Given the description of an element on the screen output the (x, y) to click on. 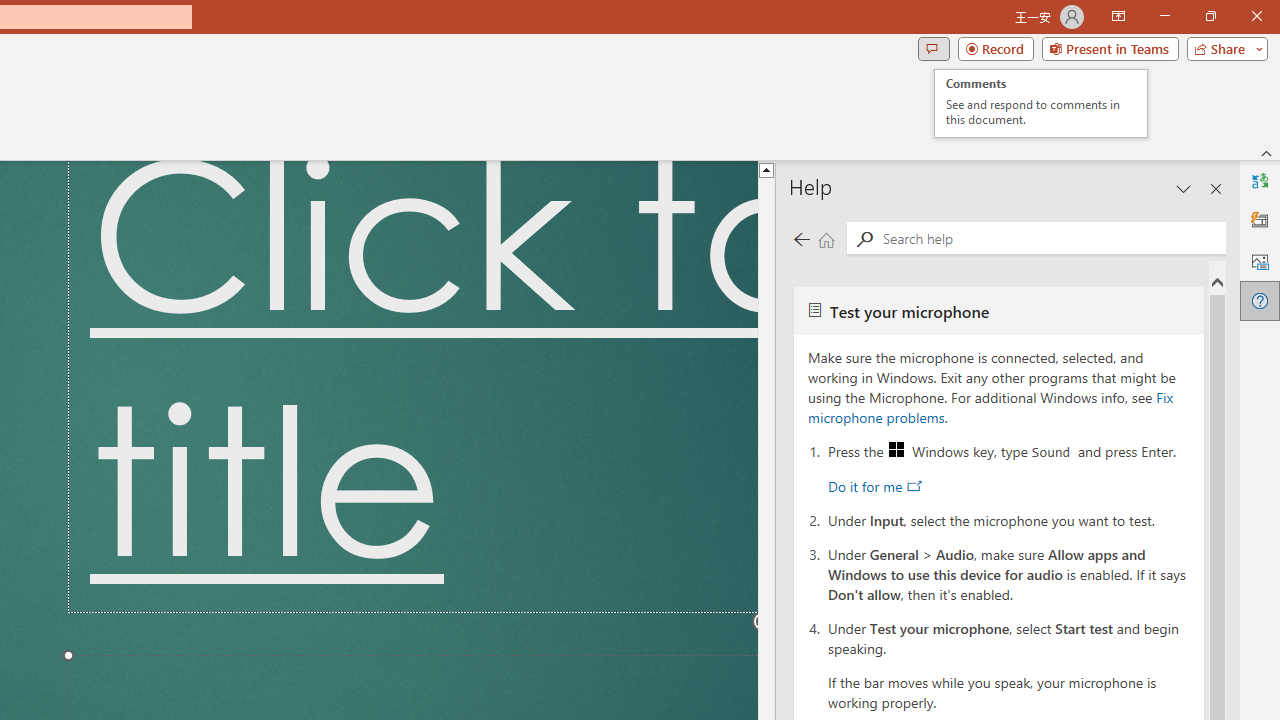
Line up (911, 169)
Search (864, 238)
Collapse the Ribbon (1267, 152)
Test your microphone (998, 310)
Previous page (801, 238)
Ribbon Display Options (1118, 16)
Home (826, 238)
Share (1223, 48)
Translator (1260, 180)
Close pane (1215, 188)
Restore Down (1210, 16)
Search (1049, 237)
Alt Text (1260, 260)
Minimize (1164, 16)
